Given the description of an element on the screen output the (x, y) to click on. 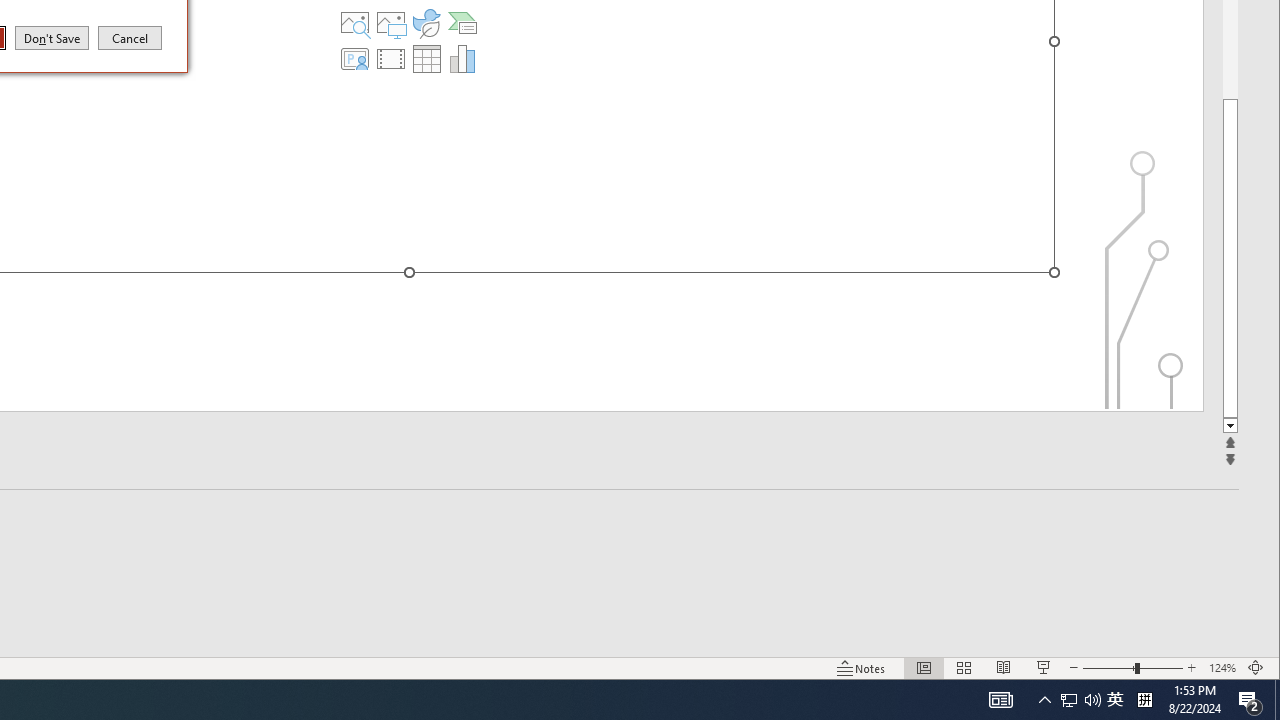
Notification Chevron (1044, 699)
Don't Save (52, 37)
Insert Video (391, 58)
AutomationID: 4105 (1000, 699)
Insert a SmartArt Graphic (462, 22)
Action Center, 2 new notifications (1250, 699)
Insert Cameo (355, 58)
Q2790: 100% (1092, 699)
Stock Images (355, 22)
Insert Table (426, 58)
